Given the description of an element on the screen output the (x, y) to click on. 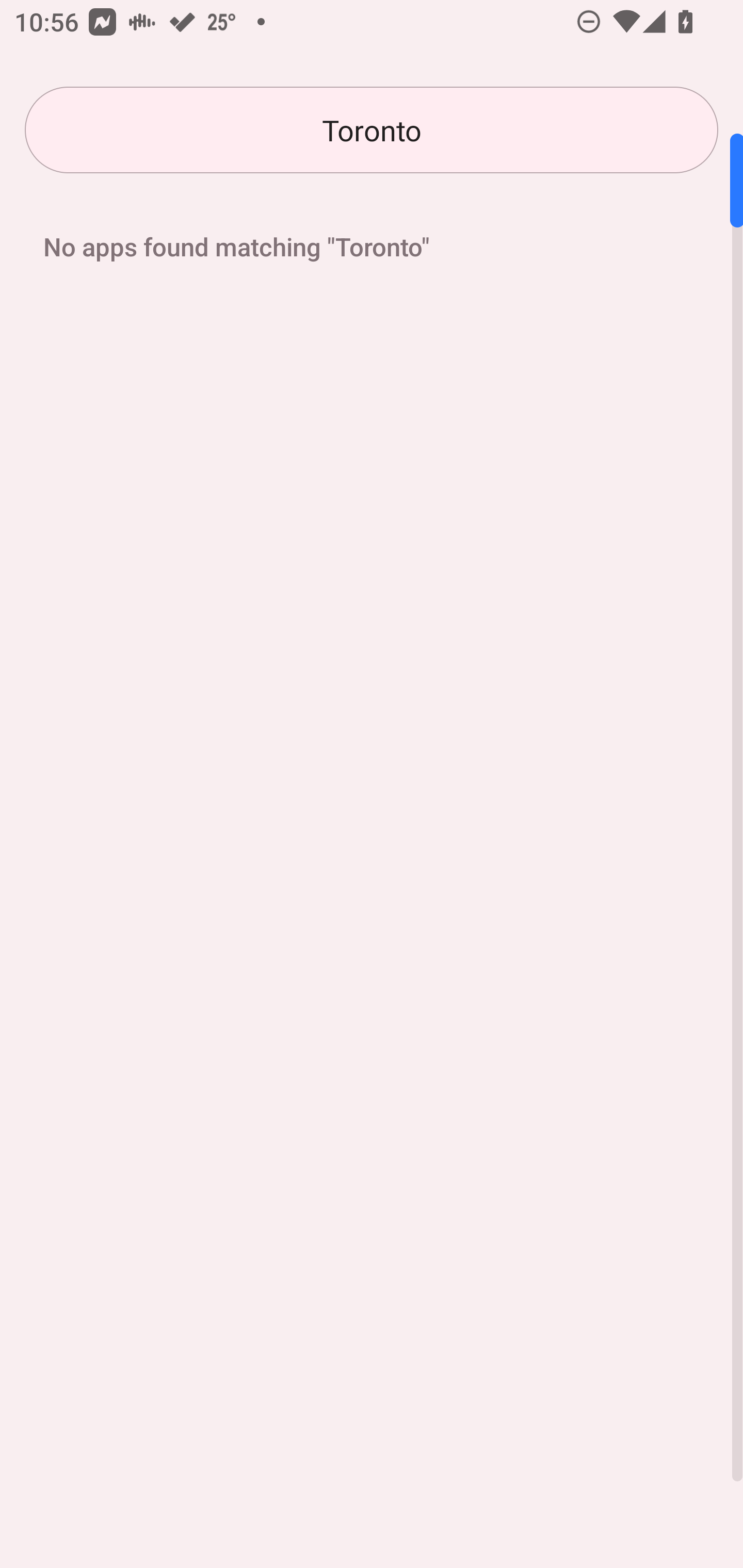
Toronto (371, 130)
